Given the description of an element on the screen output the (x, y) to click on. 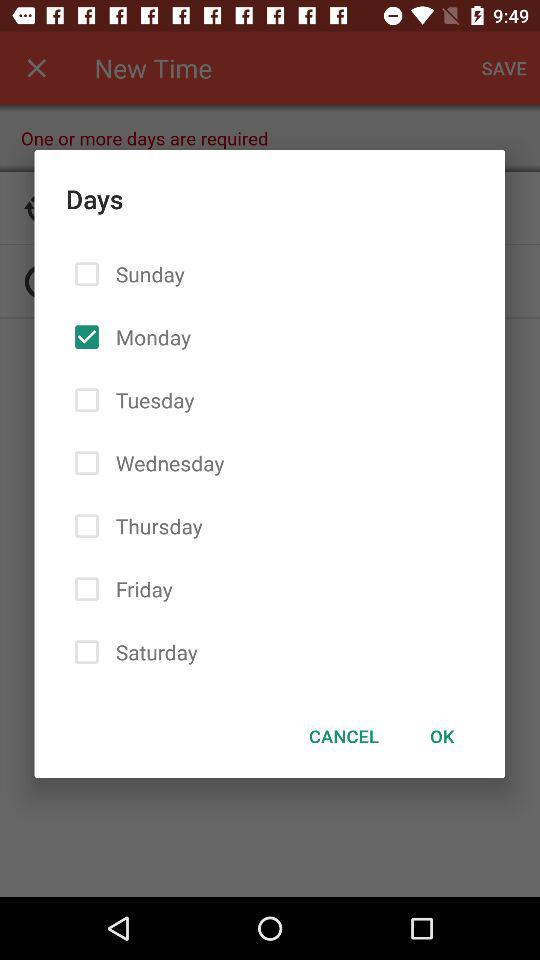
launch thursday icon (155, 525)
